Given the description of an element on the screen output the (x, y) to click on. 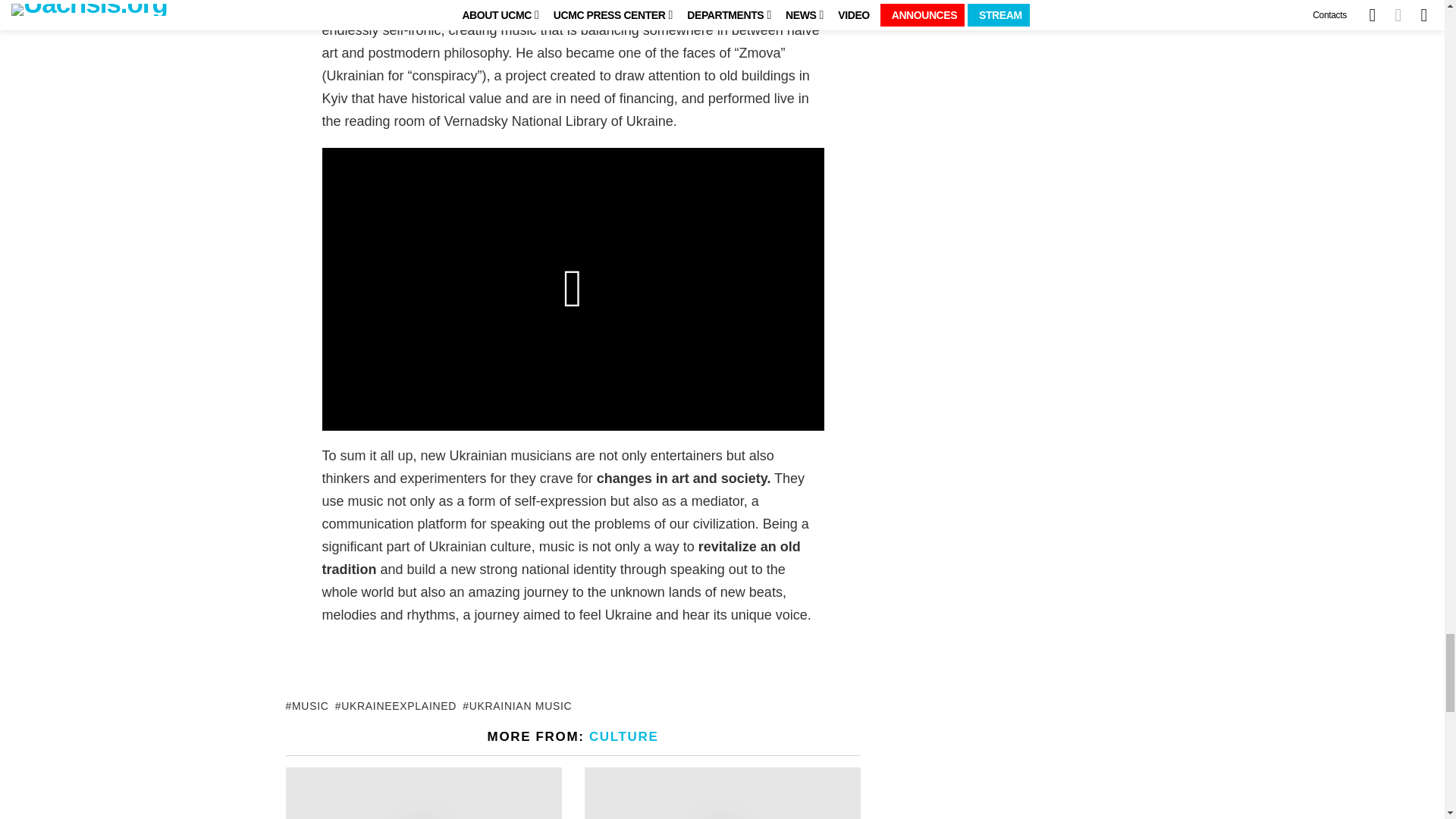
Book initiatives in de-occupied and front-line territories (422, 793)
How Ukrainian museums survived two years of war (721, 793)
